Given the description of an element on the screen output the (x, y) to click on. 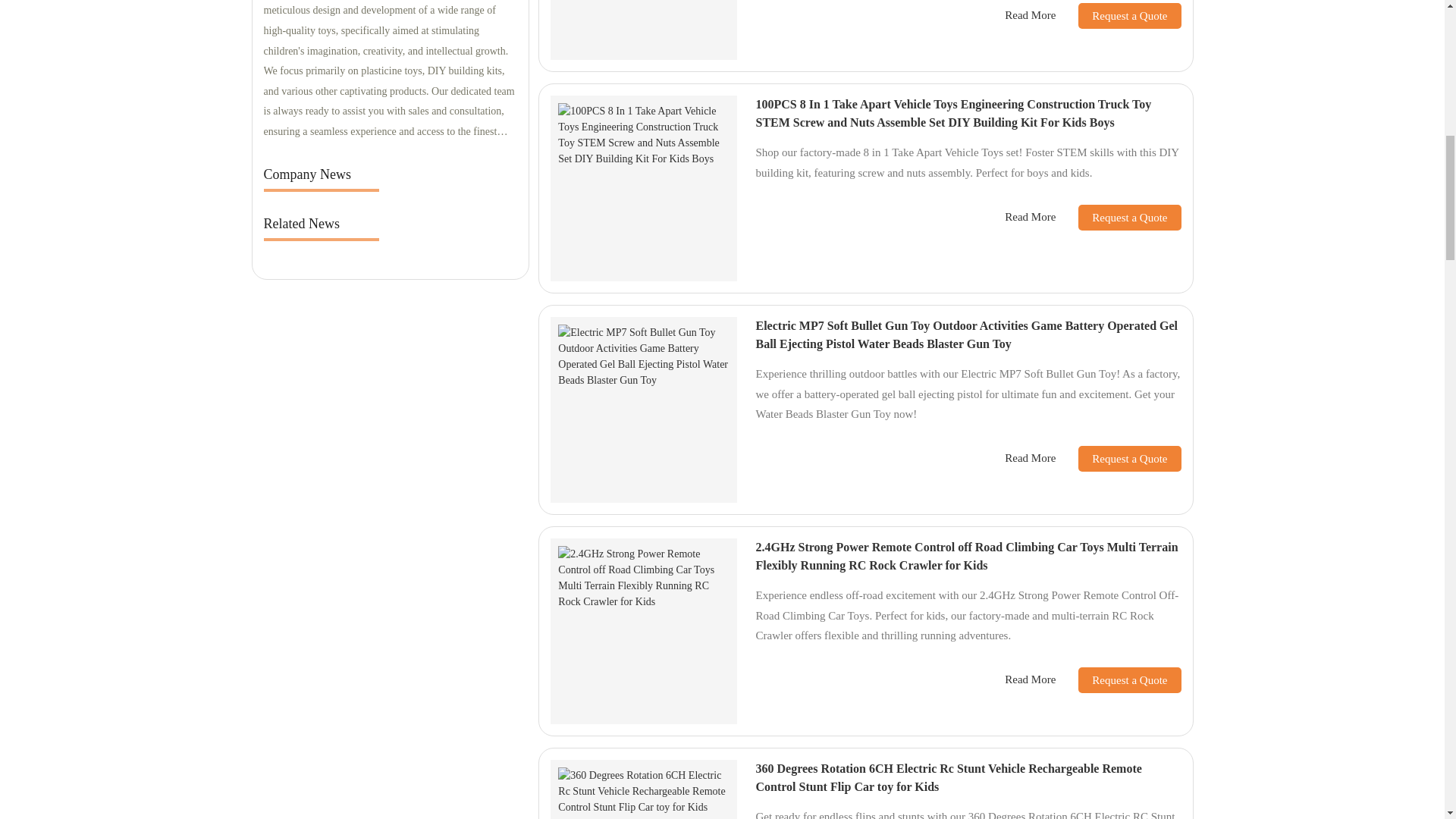
Read More (1029, 15)
Read More (1029, 217)
Request a Quote (1117, 458)
Read More (1029, 457)
Request a Quote (1117, 217)
Request a Quote (1117, 15)
